Given the description of an element on the screen output the (x, y) to click on. 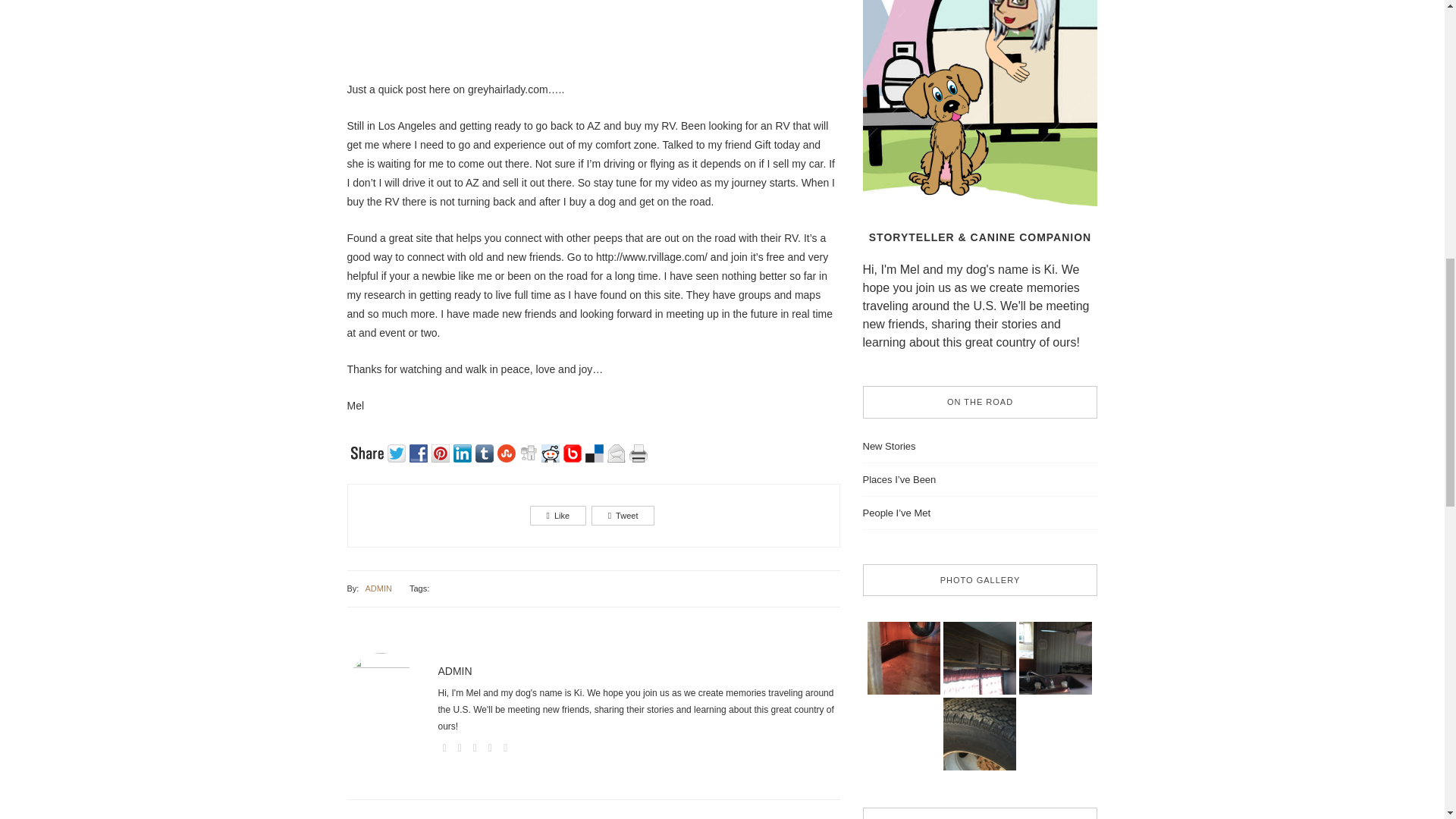
Reddit (552, 451)
Twitter (398, 451)
2016-02-07 08.52.41  (904, 657)
Pinterest (441, 451)
2016-02-07 08.28.39  (1055, 657)
2016-02-07 09.03.18               (979, 657)
Linkedin (464, 451)
StumbleUpon (508, 451)
Print (639, 451)
Facebook (419, 451)
Bebo (573, 451)
Email (617, 451)
Delicious (596, 451)
Tumblr (485, 451)
2016-02-07 08.31.10  (979, 733)
